Given the description of an element on the screen output the (x, y) to click on. 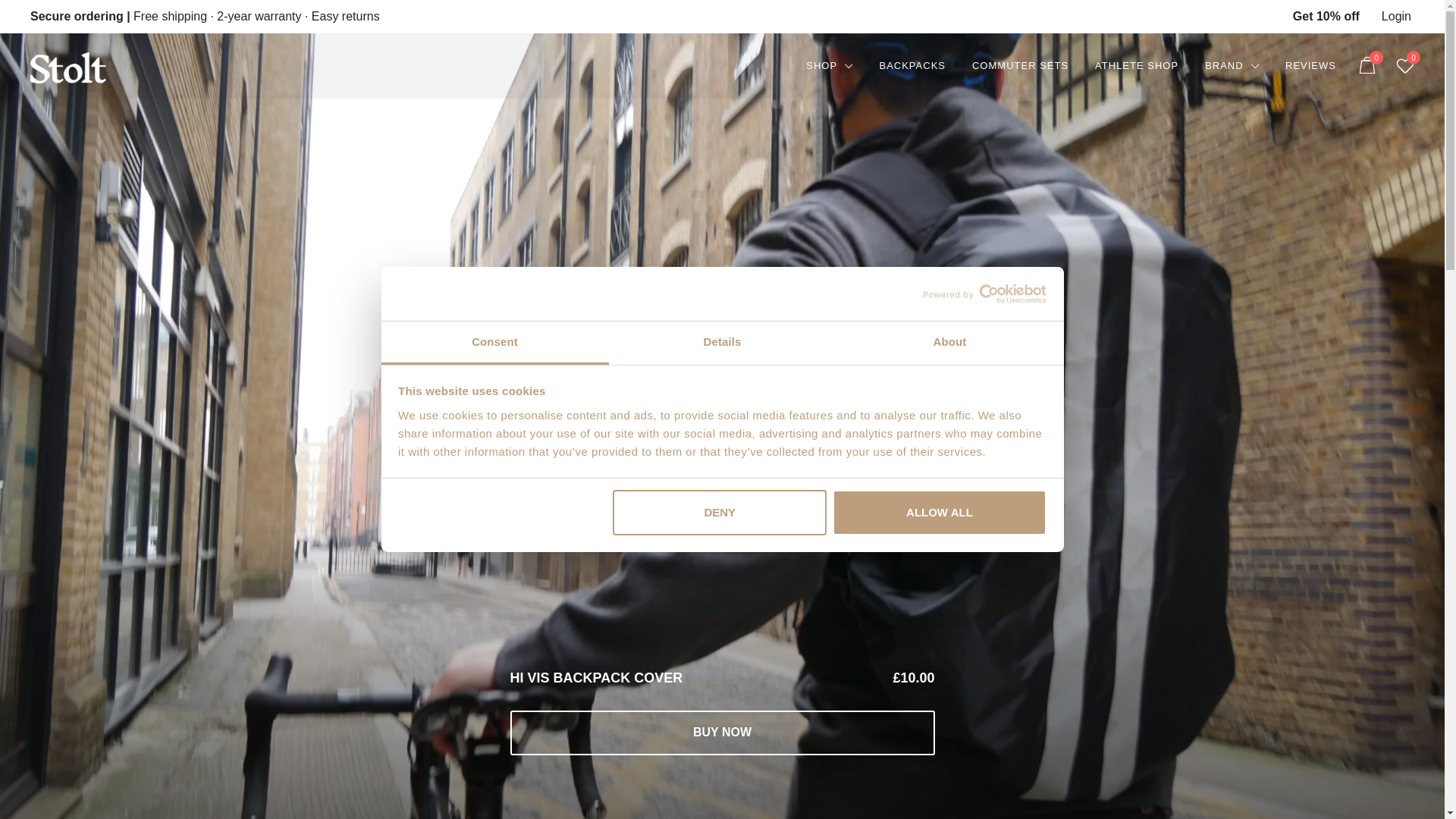
0 (1367, 65)
Login or register (1395, 16)
Consent (494, 342)
View your shopping cart (1367, 64)
Your wishlist (1404, 65)
About (948, 342)
Details (721, 342)
